Given the description of an element on the screen output the (x, y) to click on. 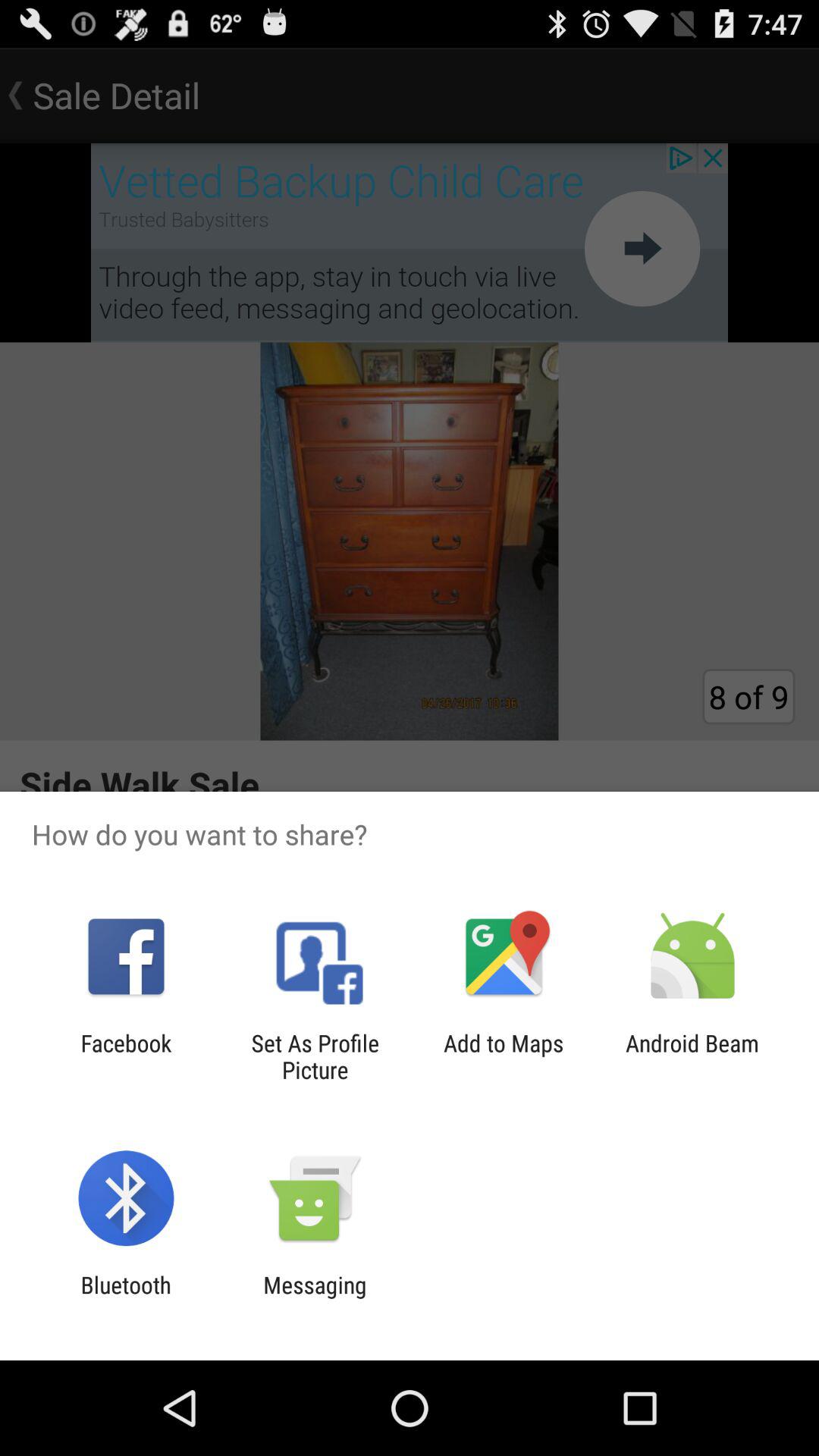
open item to the left of the add to maps icon (314, 1056)
